Given the description of an element on the screen output the (x, y) to click on. 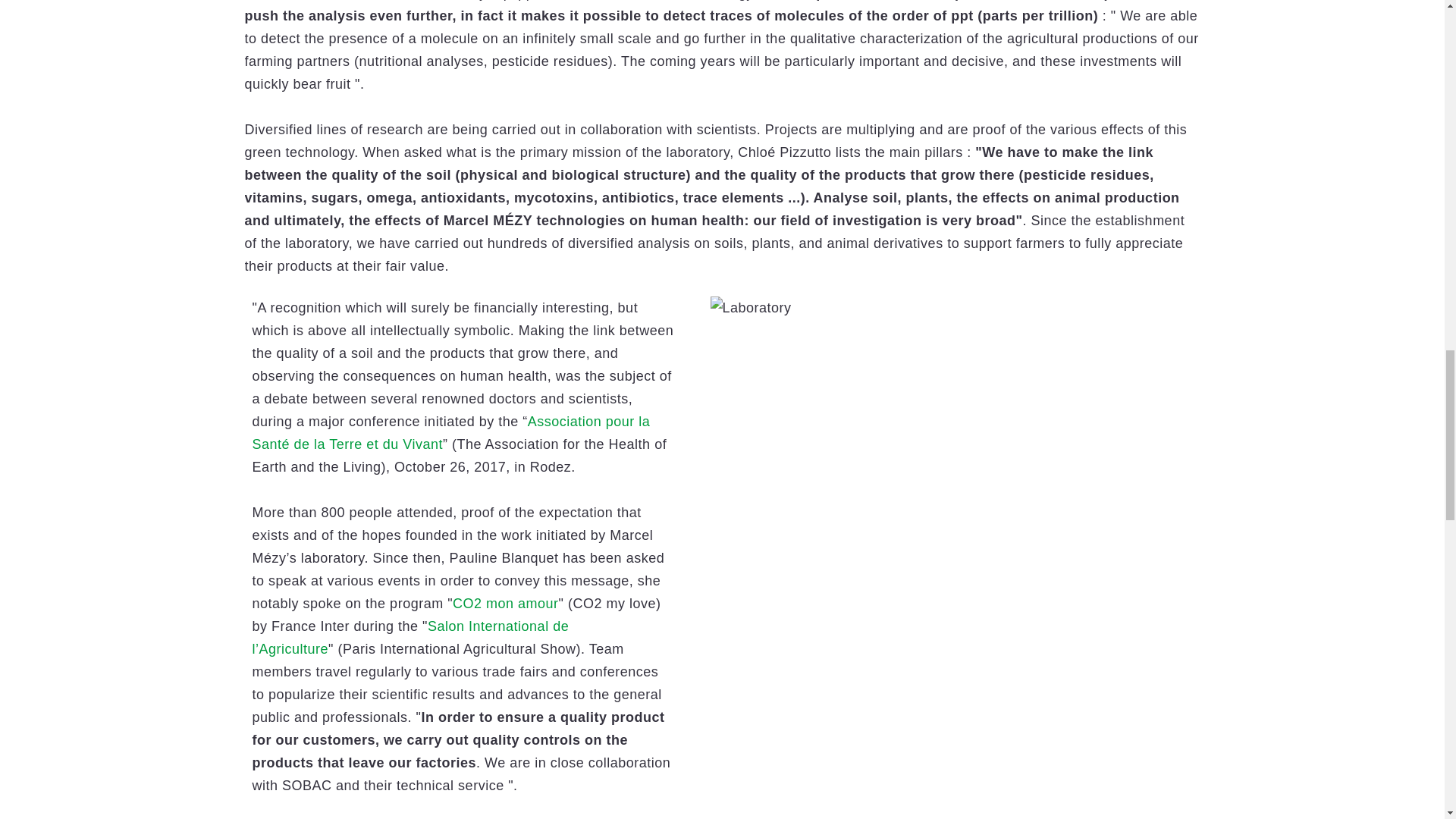
Laboratory (750, 307)
